Given the description of an element on the screen output the (x, y) to click on. 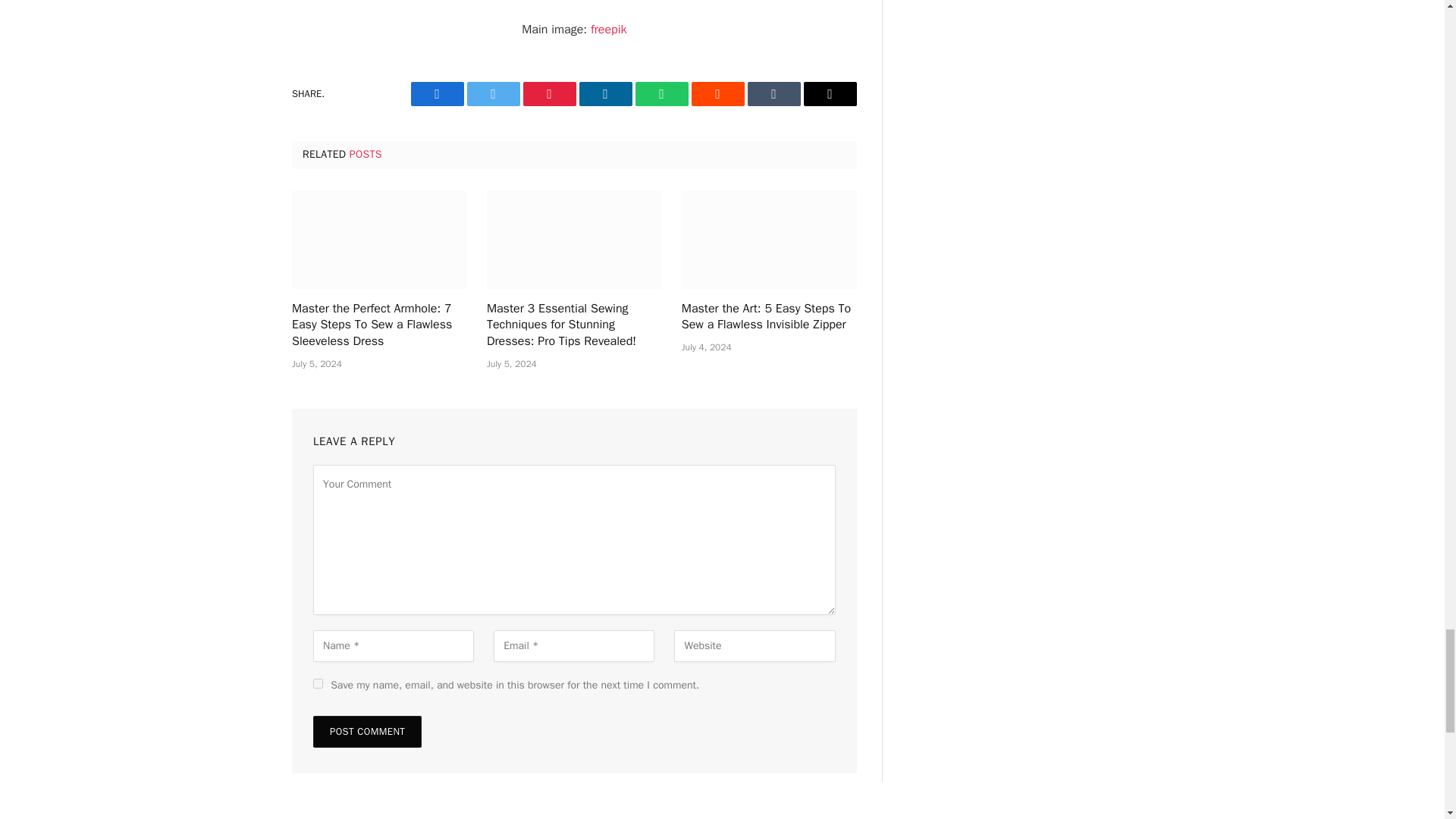
Post Comment (367, 731)
yes (318, 683)
